Given the description of an element on the screen output the (x, y) to click on. 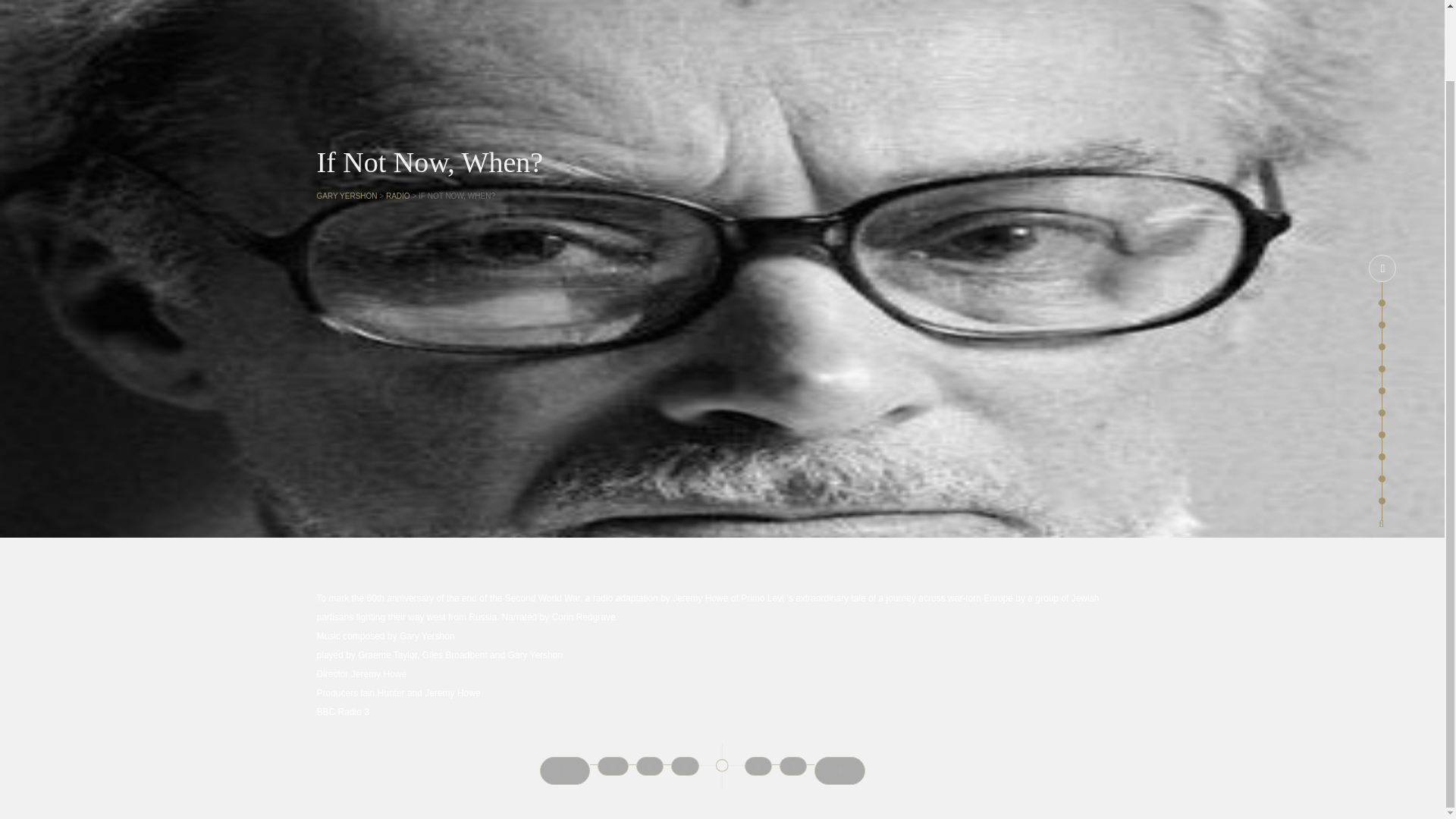
GARY YERSHON (347, 195)
Go to Gary Yershon. (347, 195)
Go to the Radio category archives. (397, 195)
RADIO (397, 195)
